Given the description of an element on the screen output the (x, y) to click on. 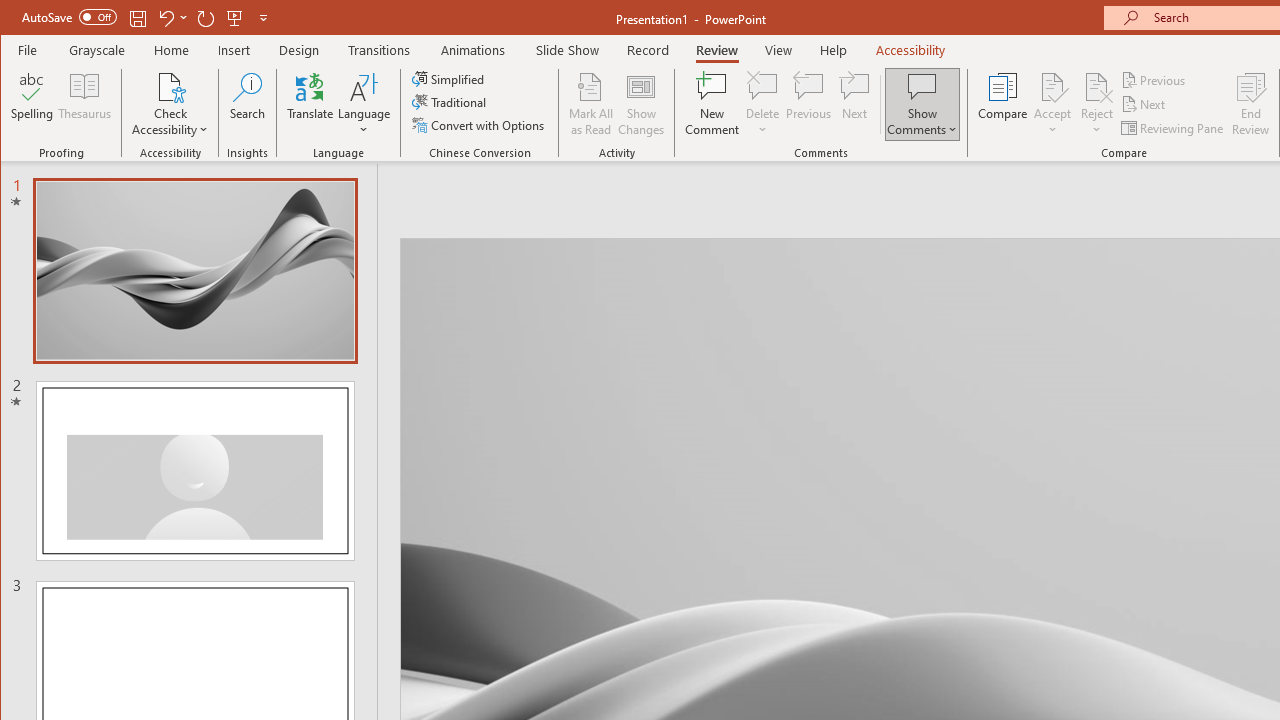
Mark All as Read (591, 104)
New Comment (712, 104)
Previous (1154, 80)
Thesaurus... (84, 104)
Accept (1052, 104)
